Given the description of an element on the screen output the (x, y) to click on. 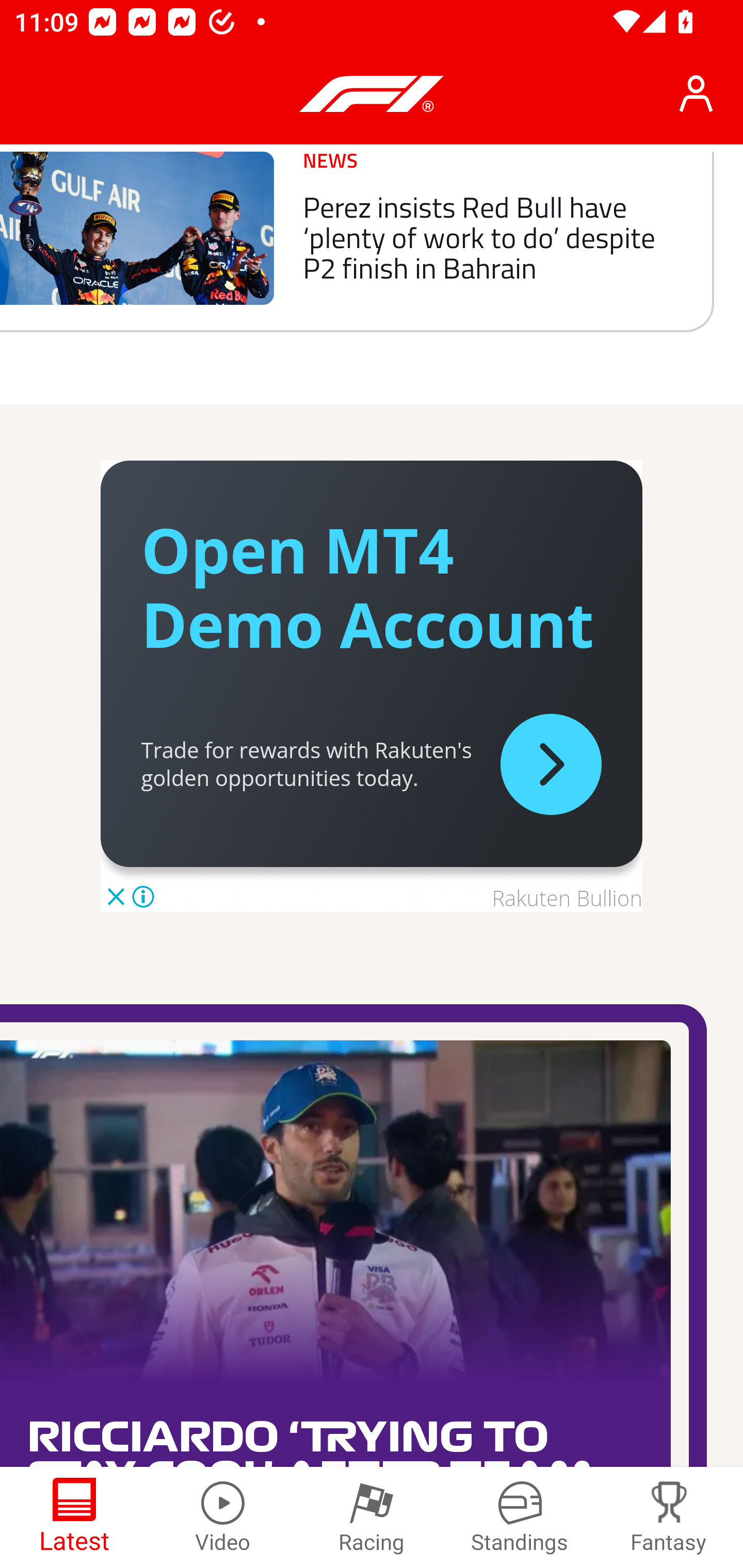
Open MT4 Demo Account Open MT4 Demo Account (367, 585)
Rakuten Bullion (566, 898)
Video (222, 1517)
Racing (371, 1517)
Standings (519, 1517)
Fantasy (668, 1517)
